Given the description of an element on the screen output the (x, y) to click on. 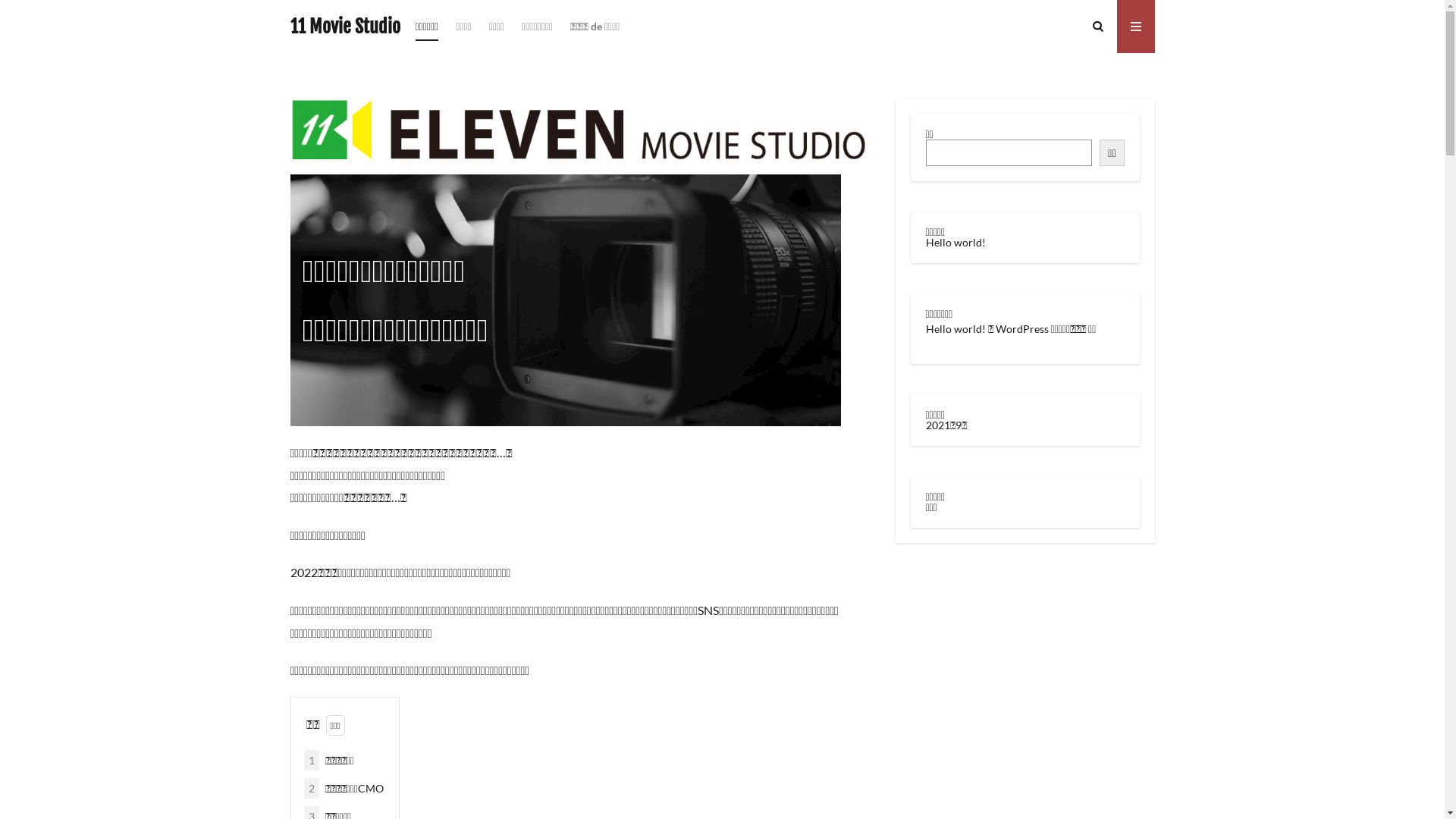
Hello world! Element type: text (955, 328)
11 Movie Studio Element type: text (344, 26)
Hello world! Element type: text (955, 241)
